Given the description of an element on the screen output the (x, y) to click on. 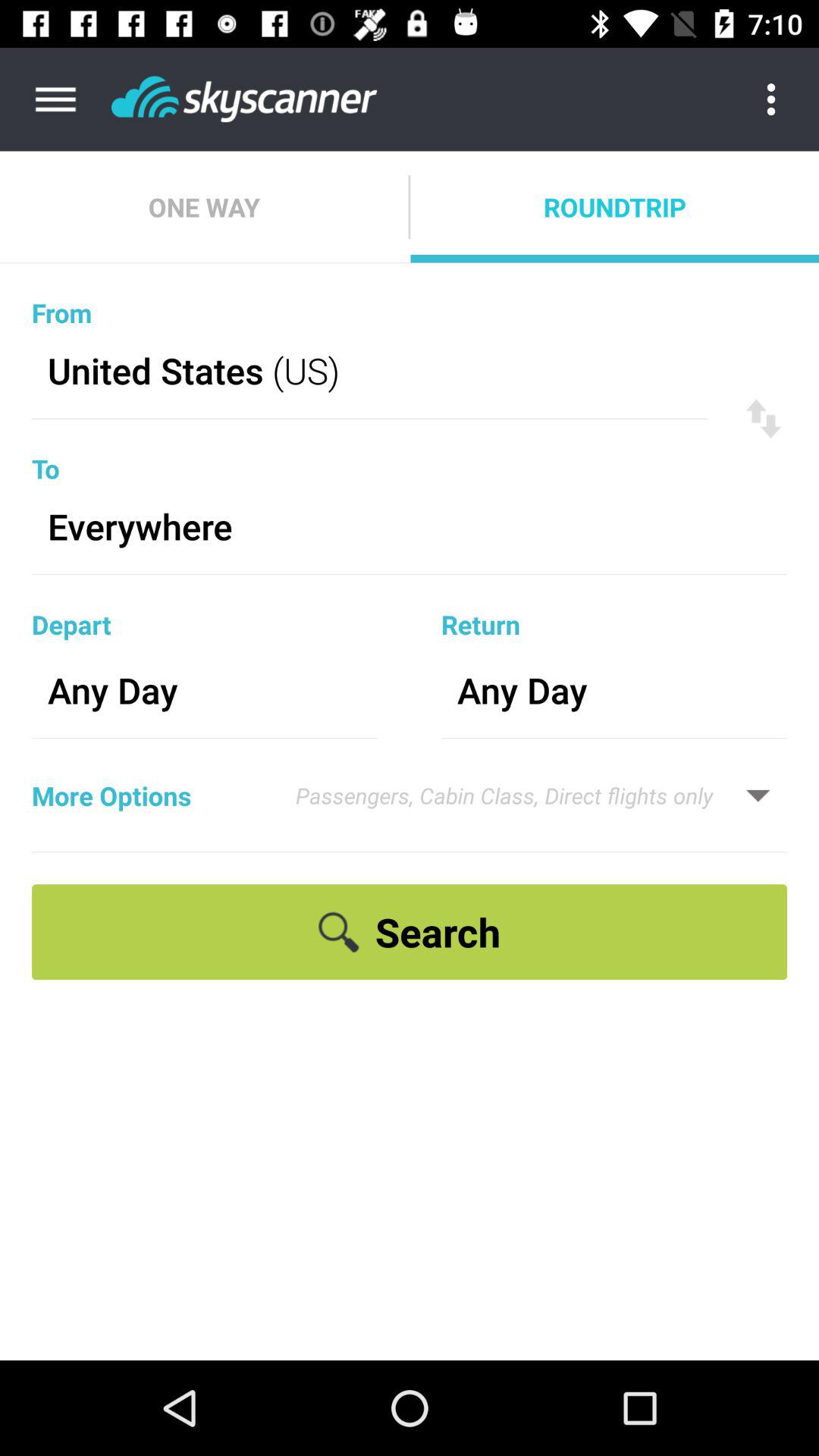
swipe until the one way icon (204, 206)
